Given the description of an element on the screen output the (x, y) to click on. 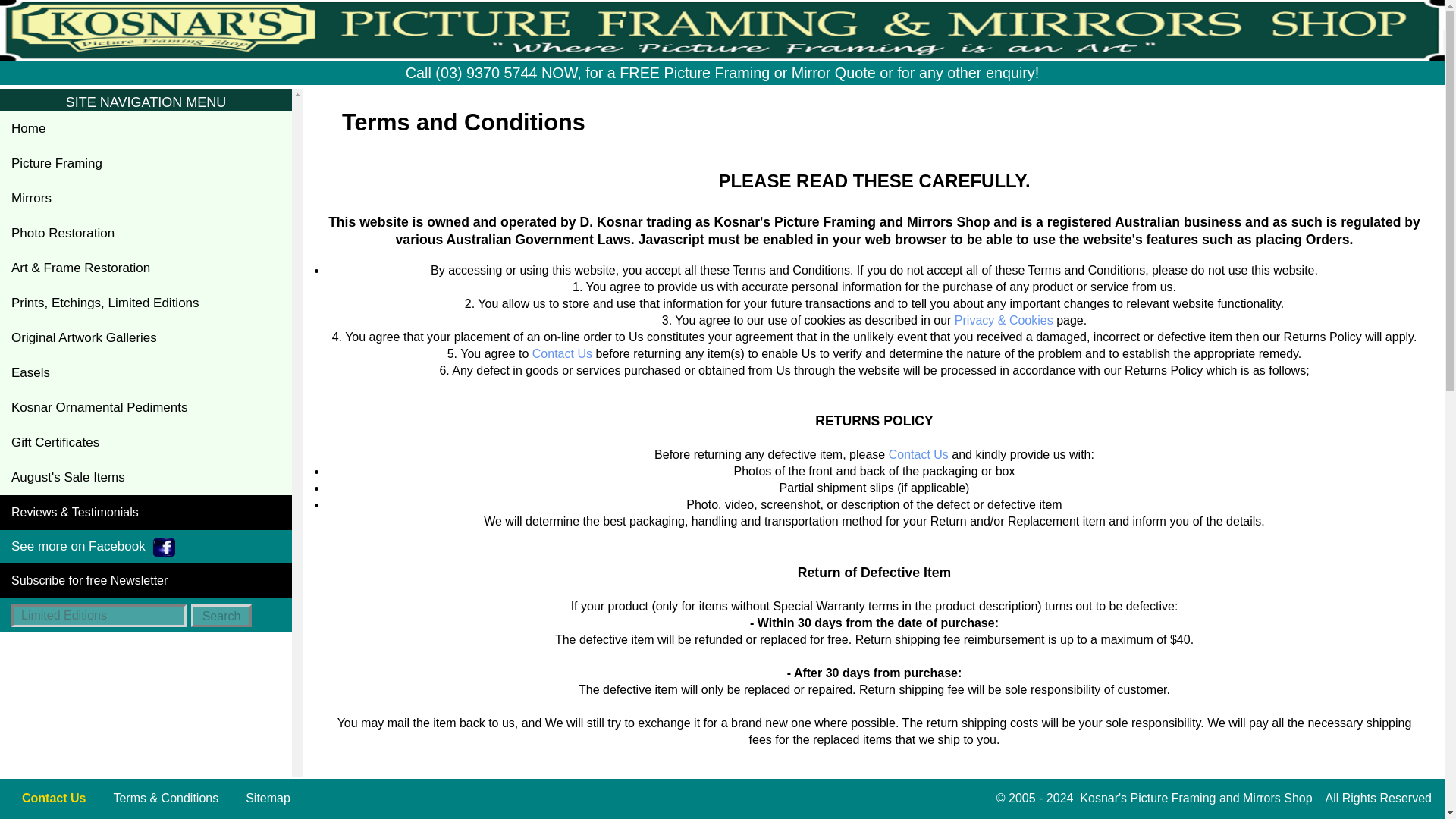
Contact Us (684, 806)
Don't be shy (918, 454)
Don't be shy (562, 353)
Prints, Etchings, Limited Editions (146, 303)
Photo Restoration (146, 233)
Search (220, 615)
Don't be shy (684, 806)
Mirrors (146, 198)
Where Picture Framing is an Art (146, 128)
Contact Us (562, 353)
